Given the description of an element on the screen output the (x, y) to click on. 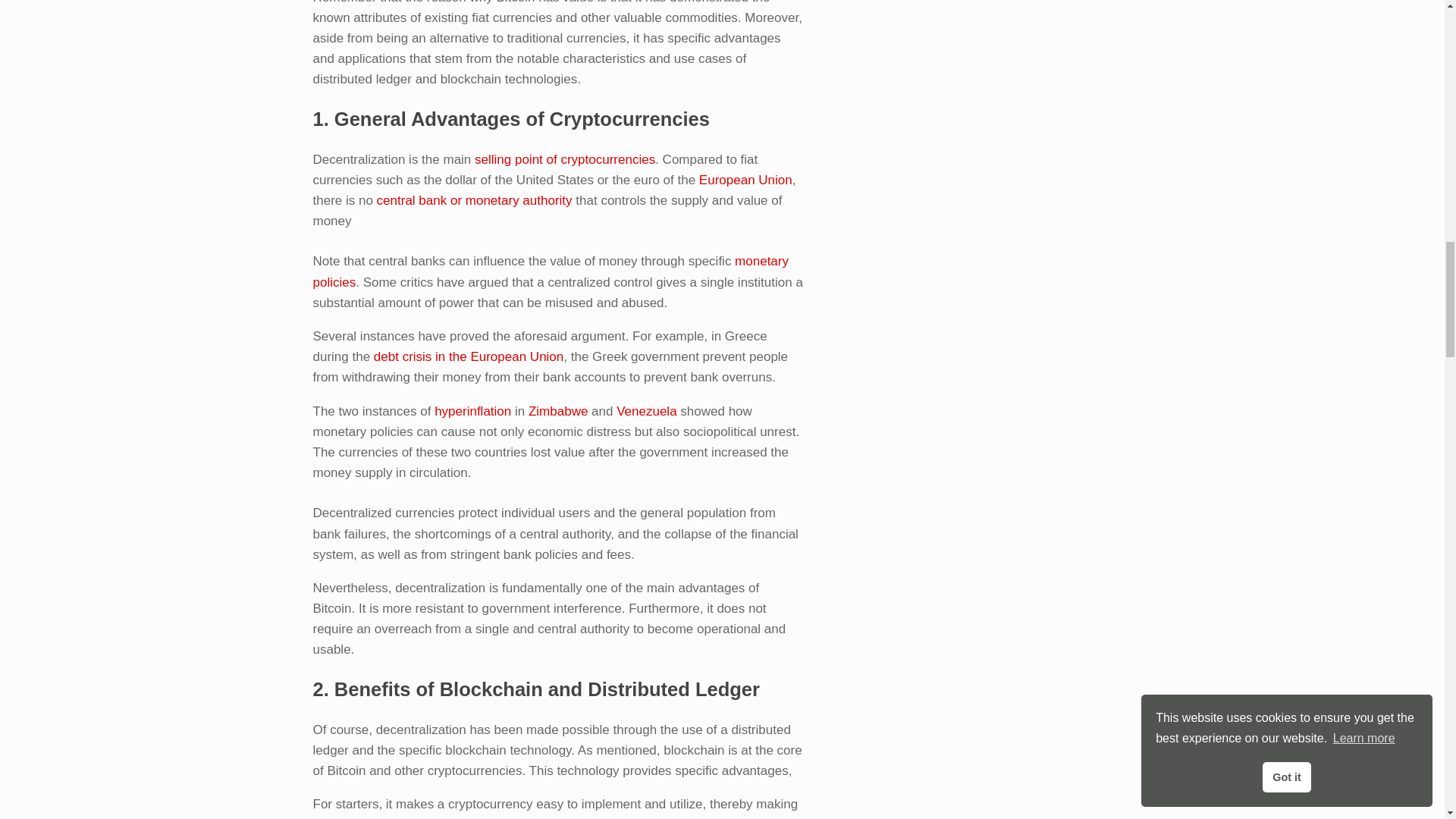
hyperinflation (472, 411)
Zimbabwe (558, 411)
debt crisis in the European Union (468, 356)
monetary policies (550, 271)
Venezuela (646, 411)
central bank or monetary authority (474, 200)
selling point of cryptocurrencies (564, 159)
European Union (745, 179)
